Given the description of an element on the screen output the (x, y) to click on. 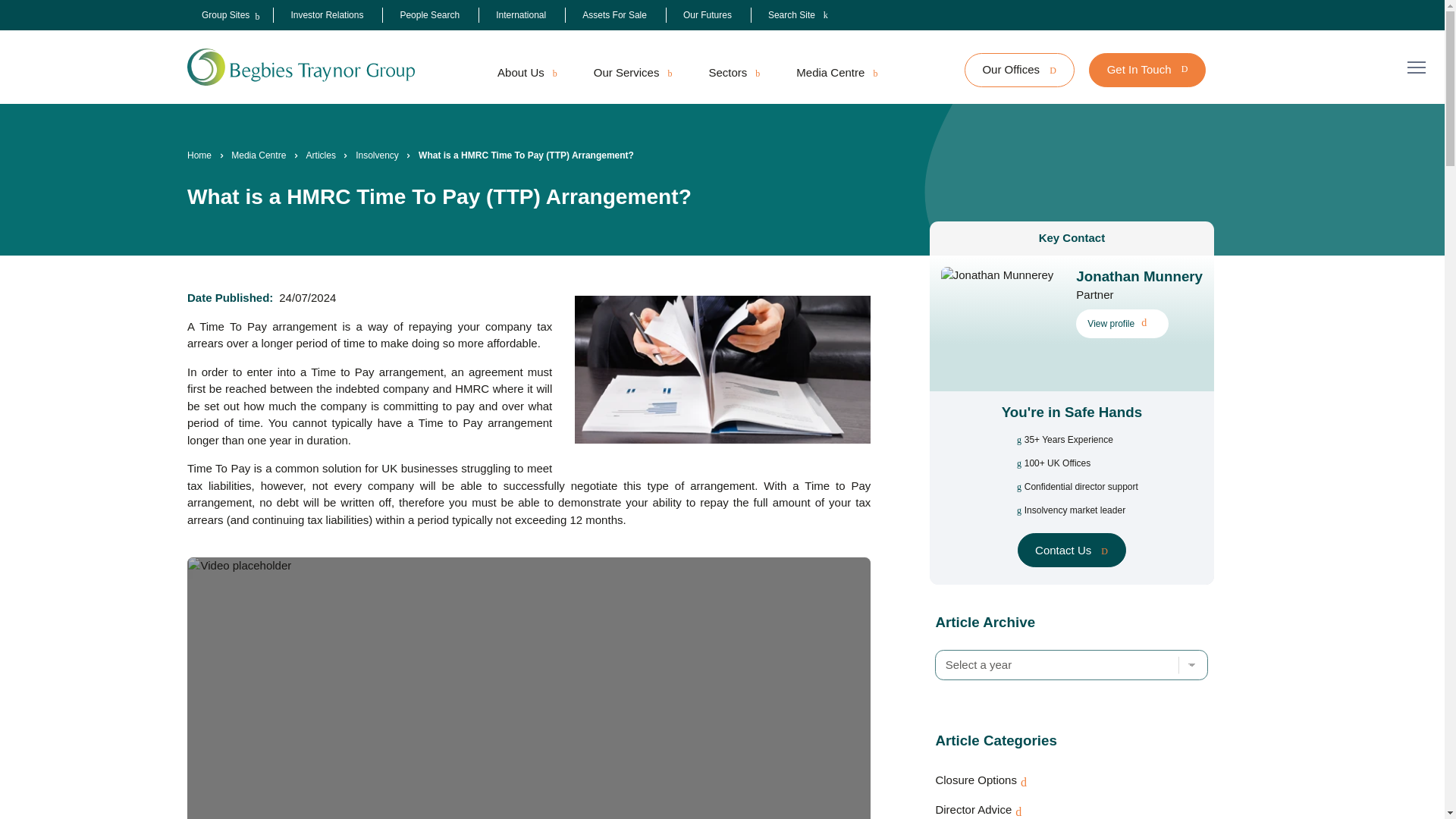
Go to Articles (320, 155)
Search Site (798, 15)
Assets For Sale (614, 15)
Go to Home (199, 155)
About Us (527, 73)
Our Futures (707, 15)
People Search (429, 15)
Group Sites (225, 15)
Investor Relations (325, 15)
Our Services (632, 73)
